Given the description of an element on the screen output the (x, y) to click on. 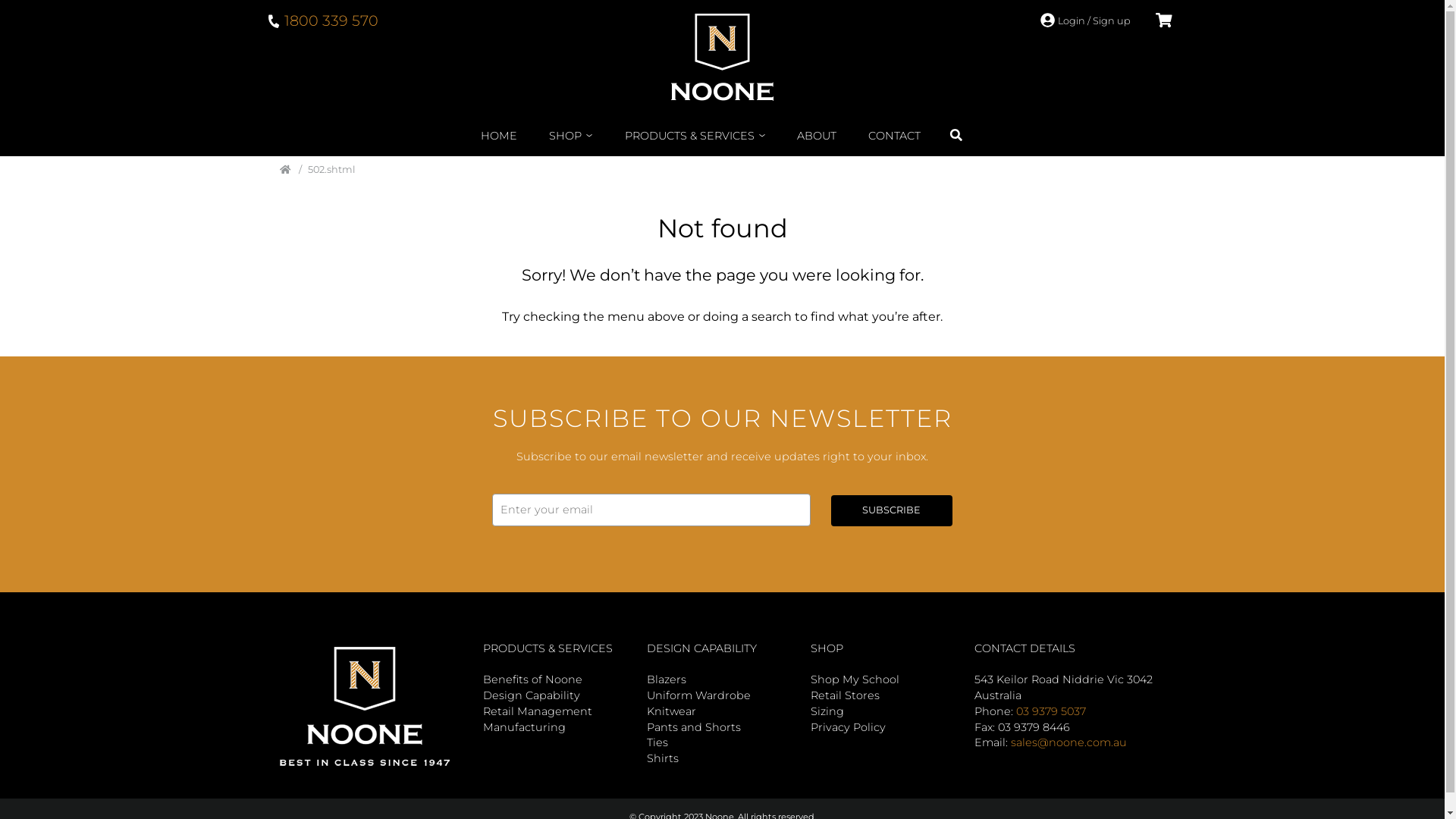
Pants and Shorts Element type: text (693, 727)
Ties Element type: text (656, 742)
PRODUCTS & SERVICES Element type: text (546, 648)
Blazers Element type: text (665, 679)
Sizing Element type: text (826, 711)
502.shtml Element type: text (323, 169)
Uniform Wardrobe Element type: text (697, 695)
SUBSCRIBE Element type: text (891, 511)
DESIGN CAPABILITY Element type: text (701, 648)
PRODUCTS & SERVICES Element type: text (695, 134)
Manufacturing Element type: text (523, 727)
1800 339 570 Element type: text (321, 20)
ABOUT Element type: text (816, 135)
Retail Management Element type: text (536, 711)
Shop My School Element type: text (853, 679)
Login / Sign up Element type: text (1085, 21)
03 9379 5037 Element type: text (1050, 711)
Benefits of Noone Element type: text (531, 679)
Privacy Policy Element type: text (846, 727)
Design Capability Element type: text (530, 695)
Retail Stores Element type: text (843, 695)
sales@noone.com.au Element type: text (1068, 742)
Knitwear Element type: text (670, 711)
Shirts Element type: text (661, 758)
SHOP Element type: text (825, 648)
SHOP Element type: text (570, 134)
CONTACT Element type: text (894, 135)
HOME Element type: text (499, 135)
